Given the description of an element on the screen output the (x, y) to click on. 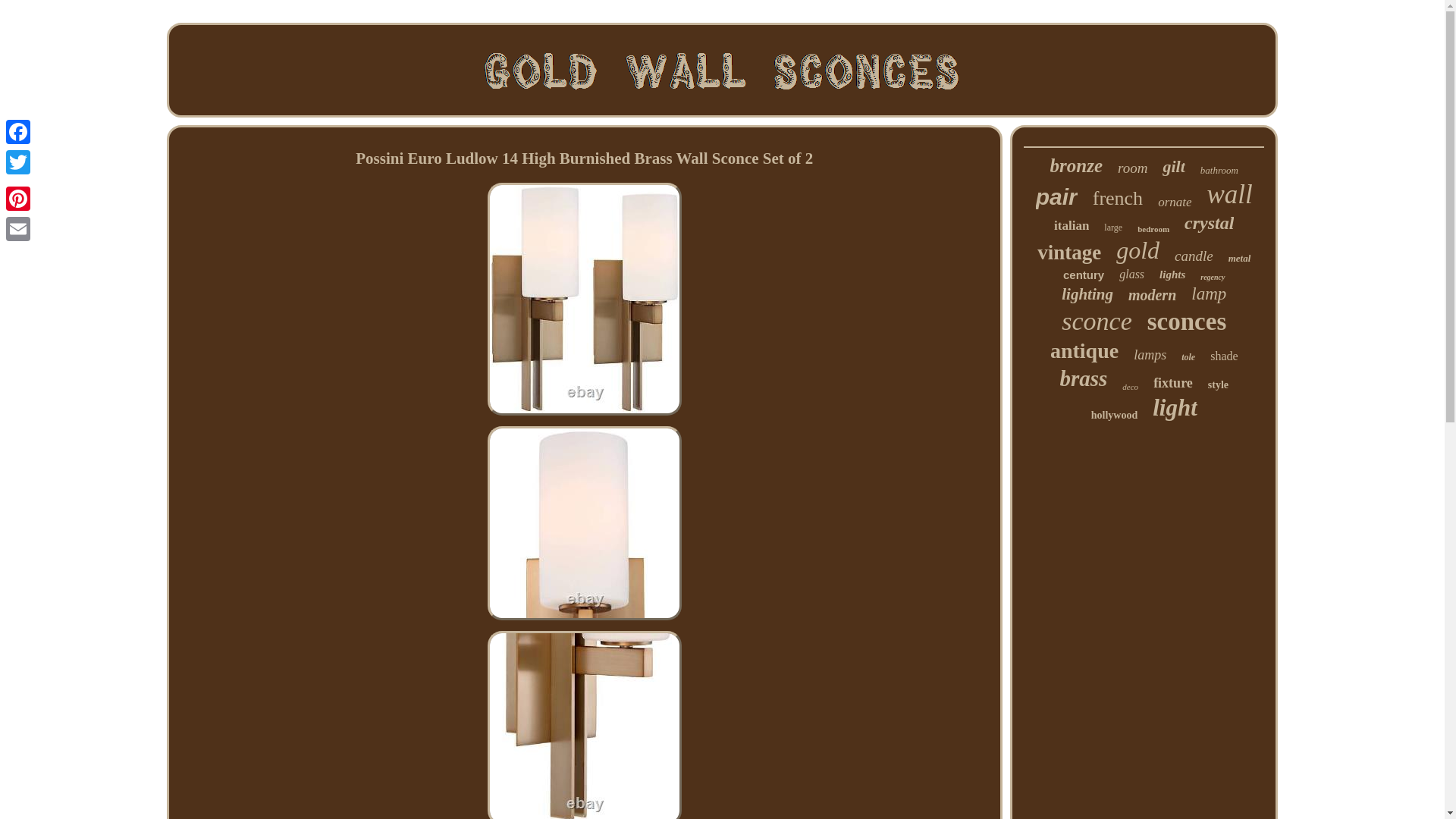
lights (1171, 274)
sconce (1096, 321)
Facebook (17, 132)
large (1112, 227)
century (1082, 274)
Twitter (17, 162)
regency (1211, 276)
bedroom (1153, 228)
italian (1071, 225)
room (1132, 167)
metal (1239, 258)
gilt (1173, 166)
vintage (1068, 252)
lamps (1150, 355)
